Given the description of an element on the screen output the (x, y) to click on. 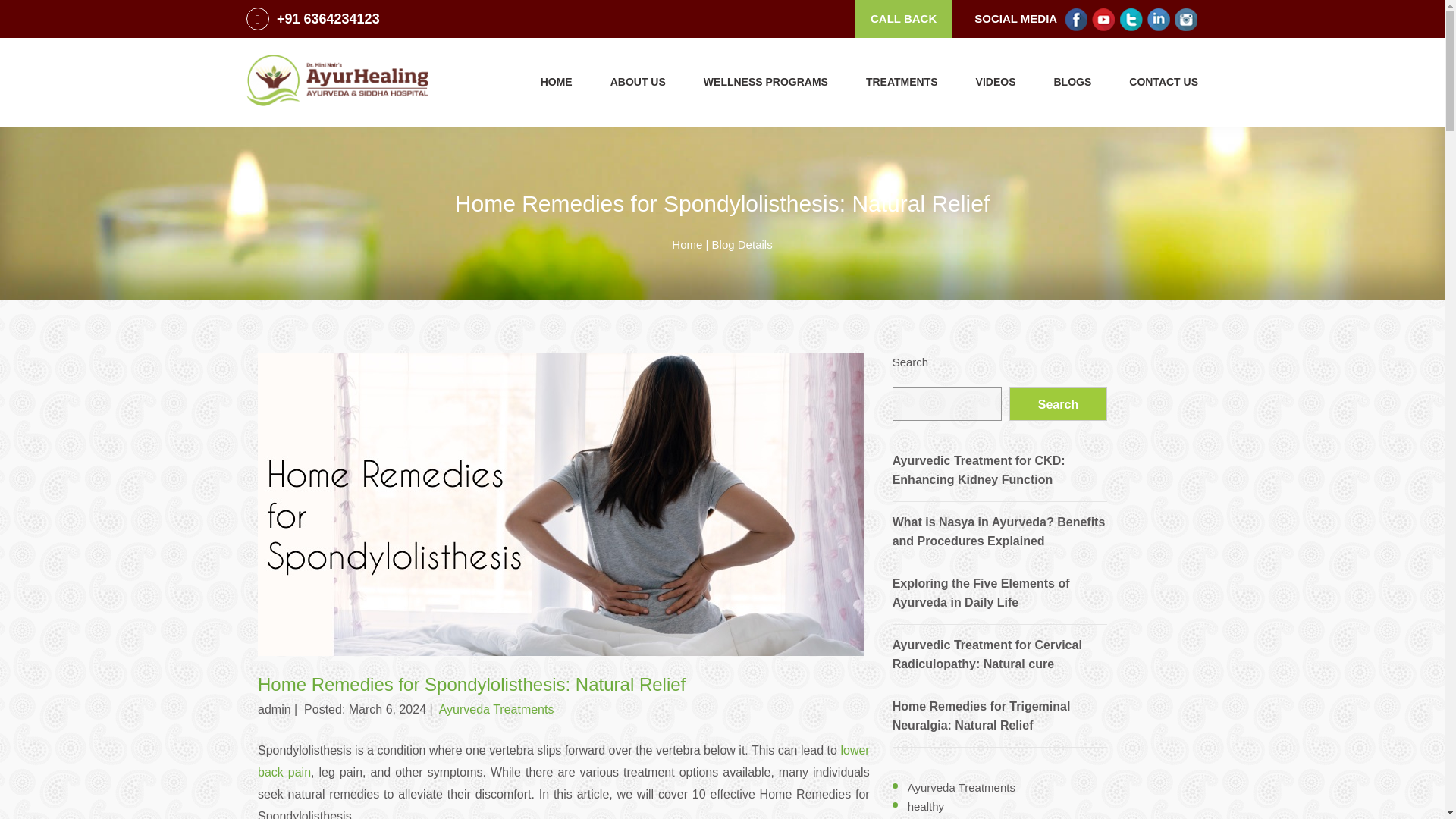
Youtube page of Ayurhealing - ayurveda centers in bangalore (1103, 18)
WELLNESS PROGRAMS (765, 82)
VIDEOS (995, 82)
ABOUT US (637, 82)
Ayurhealing call back (904, 18)
lower back pain (563, 760)
HOME (556, 82)
Twitter page of Ayurhealing - ayurveda clinic in koramangala (1130, 18)
